Given the description of an element on the screen output the (x, y) to click on. 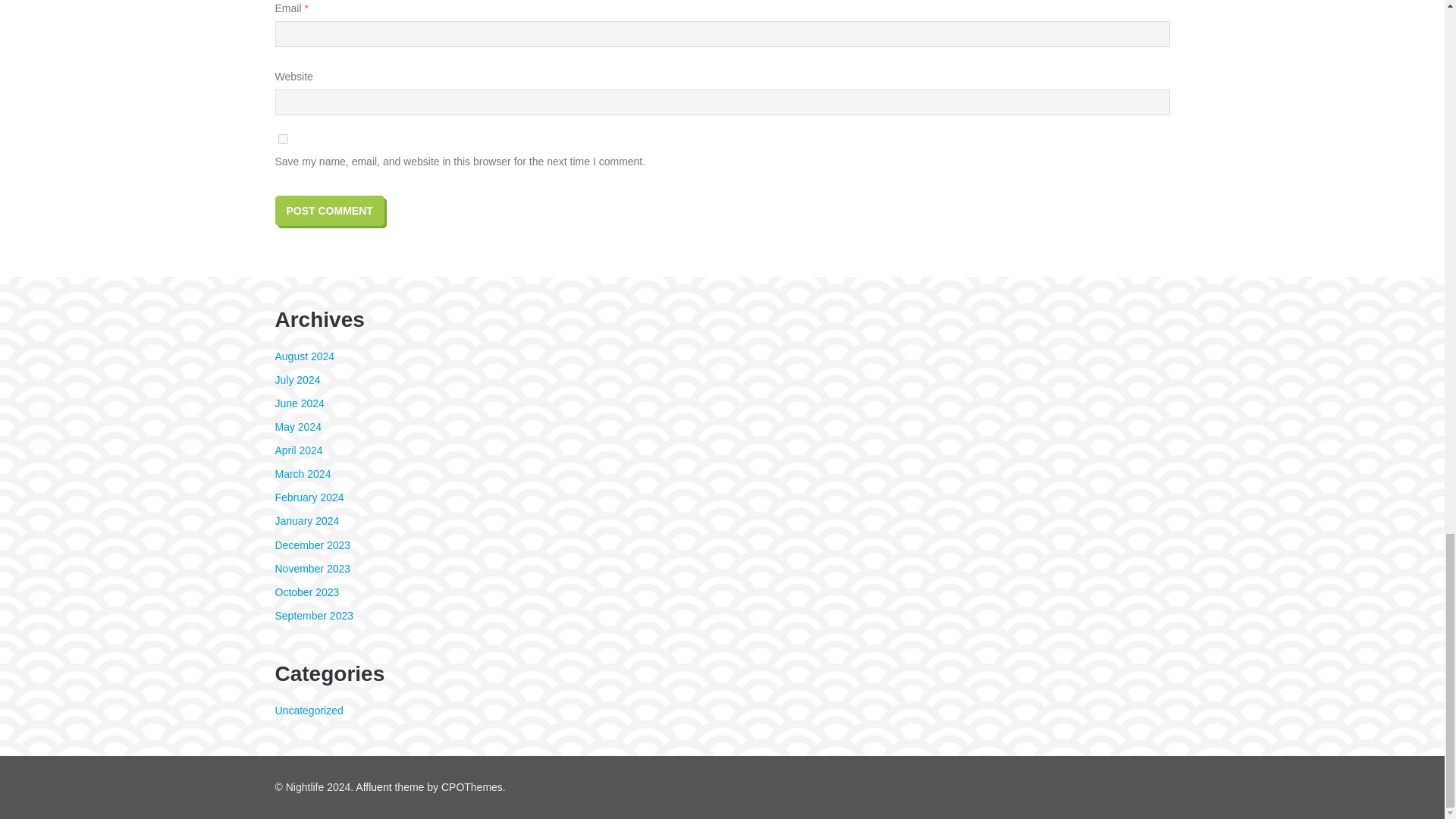
Post Comment (329, 210)
March 2024 (302, 473)
September 2023 (314, 615)
October 2023 (307, 592)
Affluent (373, 787)
November 2023 (312, 568)
Uncategorized (308, 710)
February 2024 (309, 497)
April 2024 (298, 450)
June 2024 (299, 403)
